Given the description of an element on the screen output the (x, y) to click on. 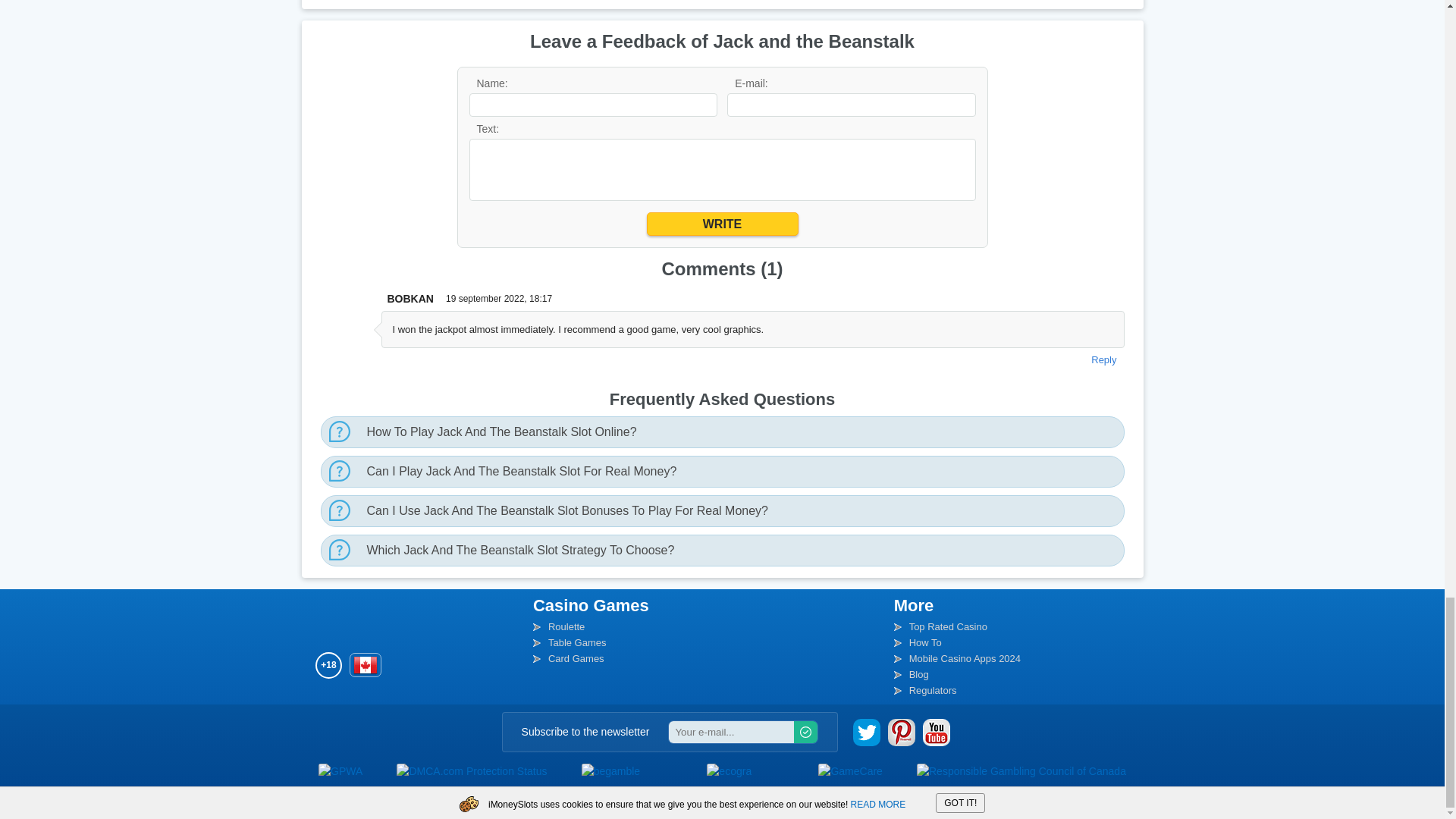
iMoneySlots (348, 620)
EN (365, 664)
WRITE (721, 223)
